Given the description of an element on the screen output the (x, y) to click on. 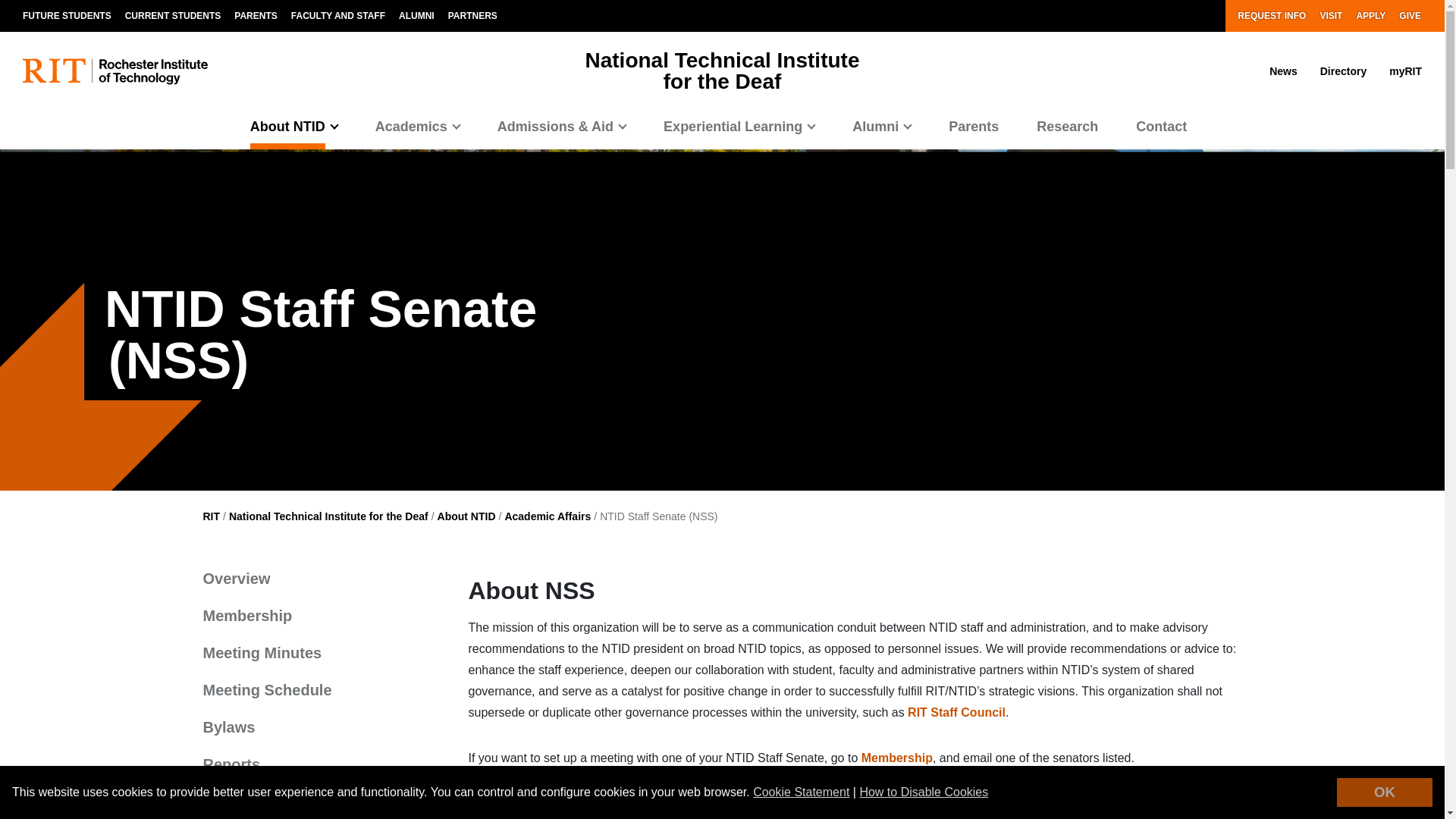
RIT logo and full name (115, 70)
